Given the description of an element on the screen output the (x, y) to click on. 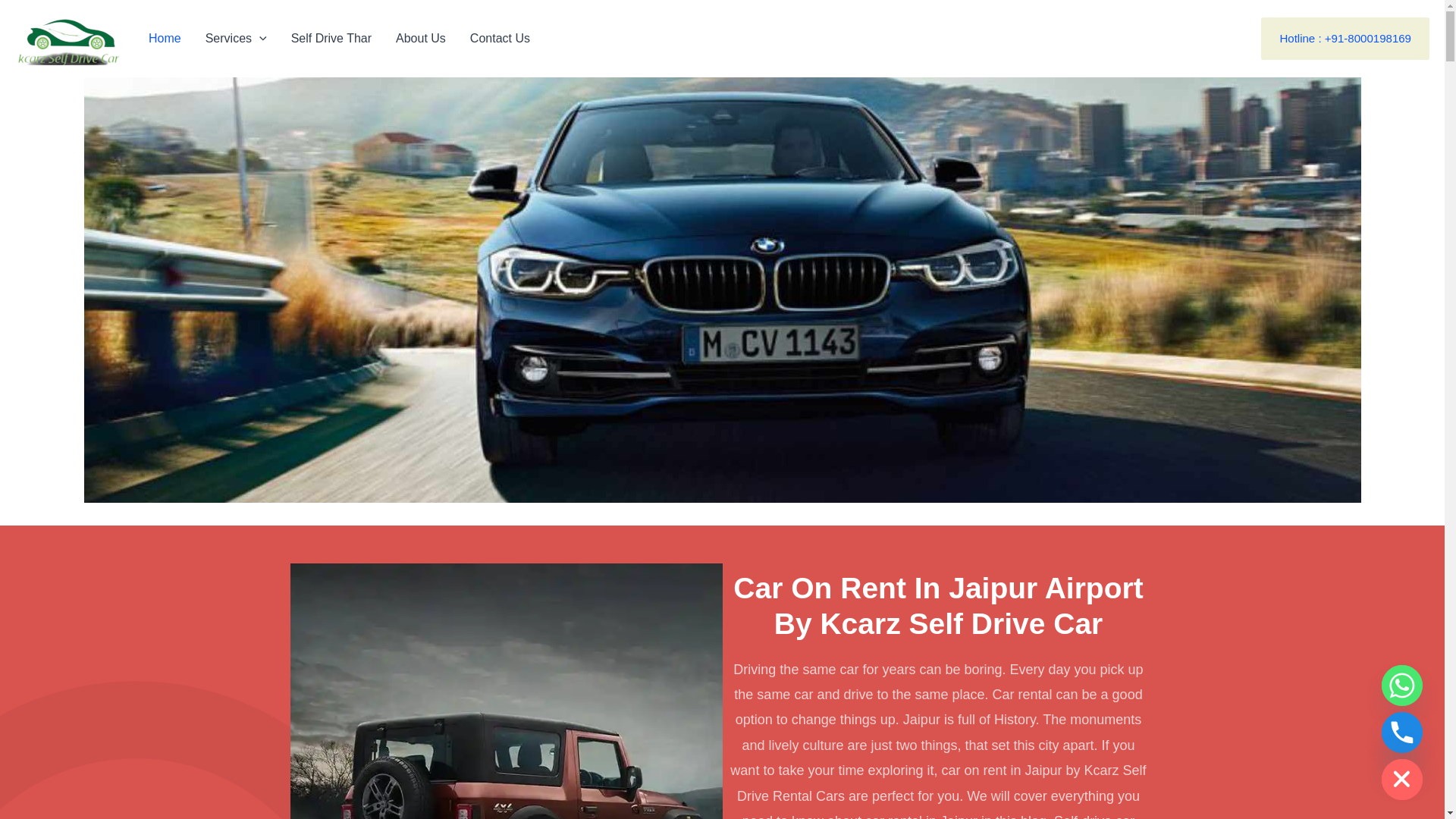
Services (236, 38)
About Us (421, 38)
Home (164, 38)
Contact Us (499, 38)
Self Drive Thar (331, 38)
